Given the description of an element on the screen output the (x, y) to click on. 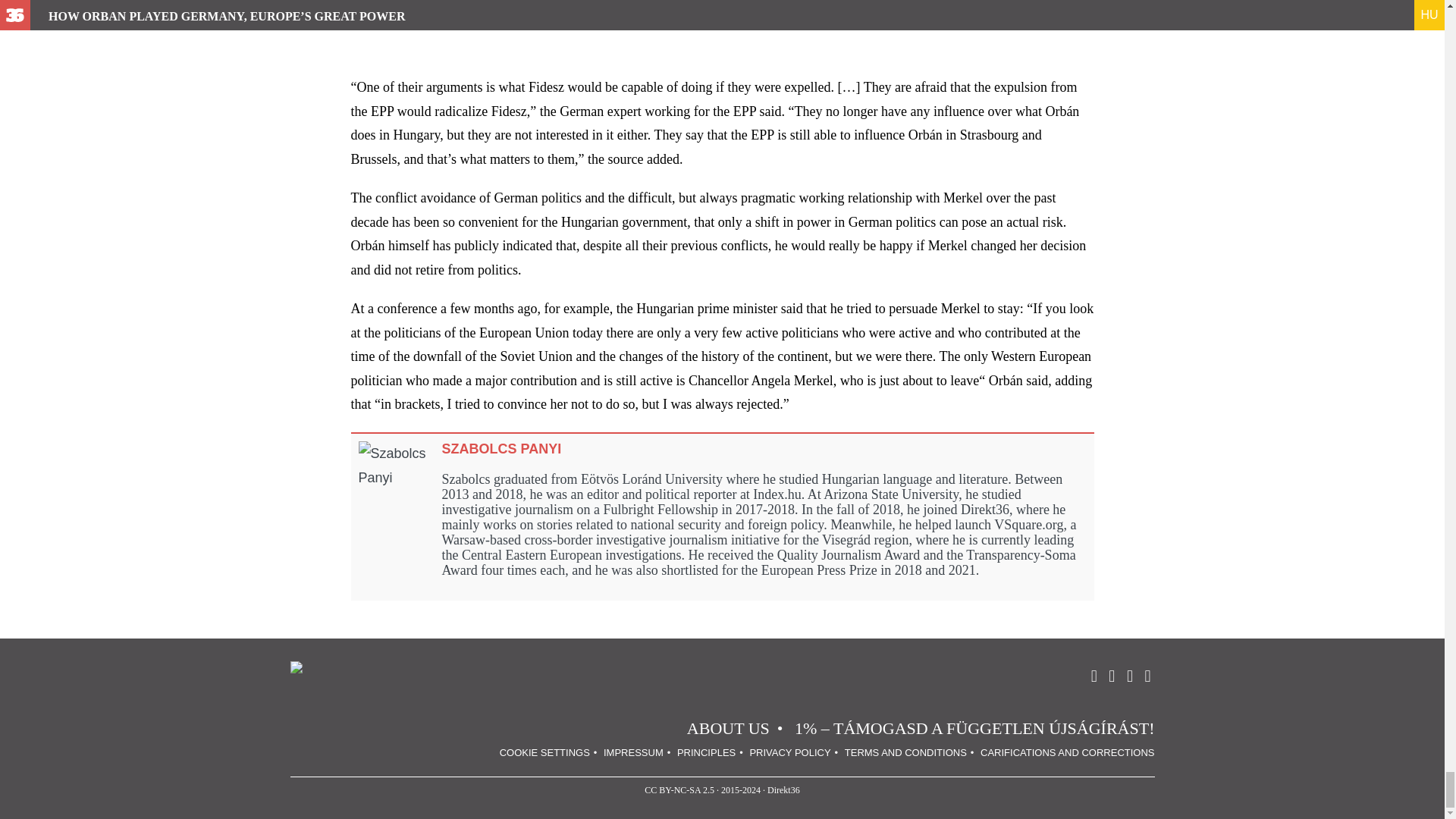
PRIVACY POLICY (789, 752)
CC BY-NC-SA 2.5 (679, 789)
TERMS AND CONDITIONS (905, 752)
CARIFICATIONS AND CORRECTIONS (1066, 752)
IMPRESSUM (633, 752)
ABOUT US (728, 728)
Szabolcs Panyi (500, 448)
SZABOLCS PANYI (500, 448)
COOKIE SETTINGS (544, 752)
PRINCIPLES (706, 752)
